Given the description of an element on the screen output the (x, y) to click on. 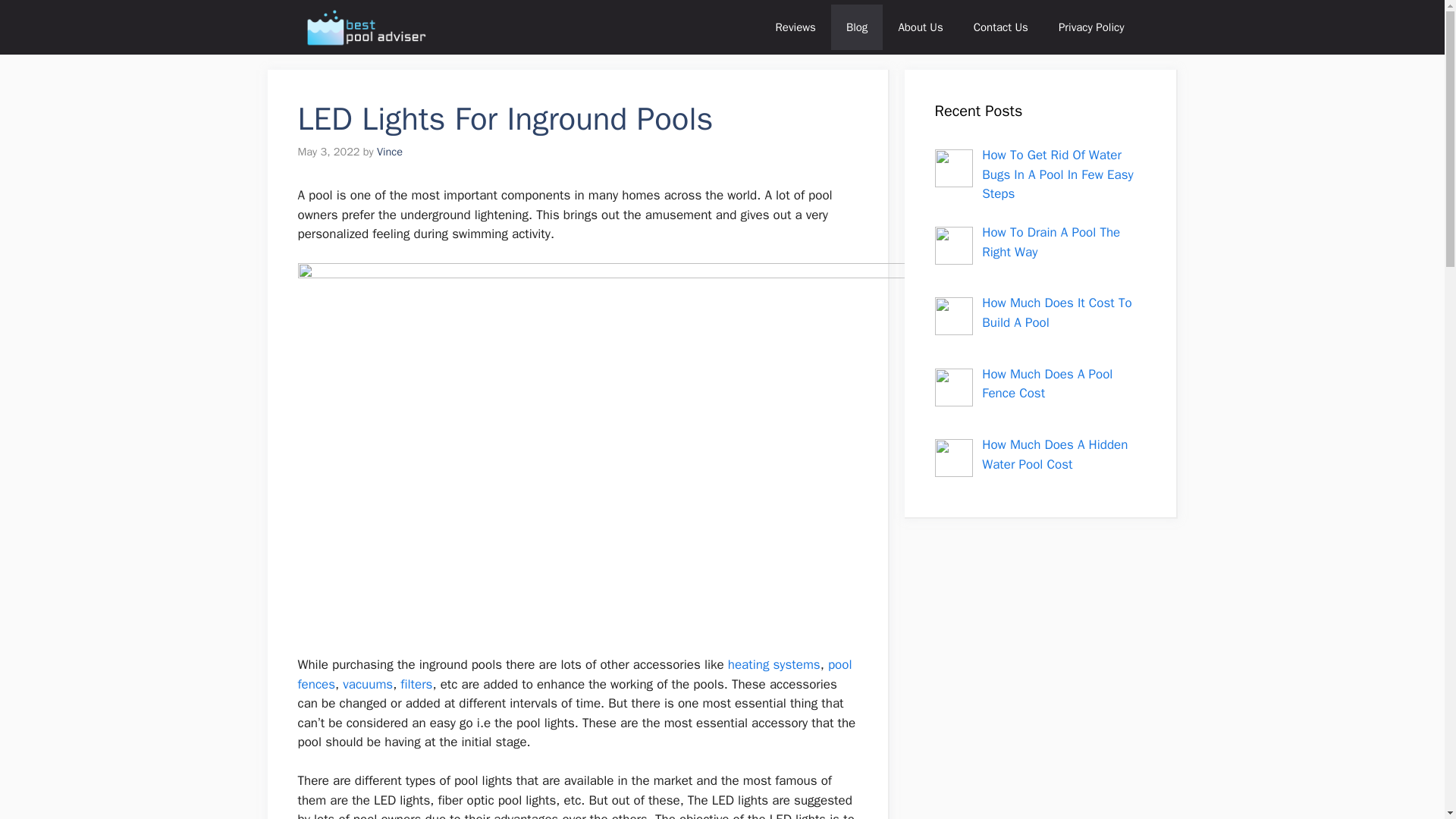
How To Drain A Pool The Right Way (1050, 242)
Best Pool Adviser (366, 27)
View all posts by Vince (390, 151)
heating systems (774, 664)
How Much Does A Hidden Water Pool Cost (1053, 454)
pool fences (574, 674)
Privacy Policy (1091, 26)
How Much Does A Pool Fence Cost (1046, 384)
filters (416, 684)
Contact Us (1000, 26)
About Us (920, 26)
Vince (390, 151)
Blog (856, 26)
How To Get Rid Of Water Bugs In A Pool In Few Easy Steps (1056, 174)
Reviews (795, 26)
